Given the description of an element on the screen output the (x, y) to click on. 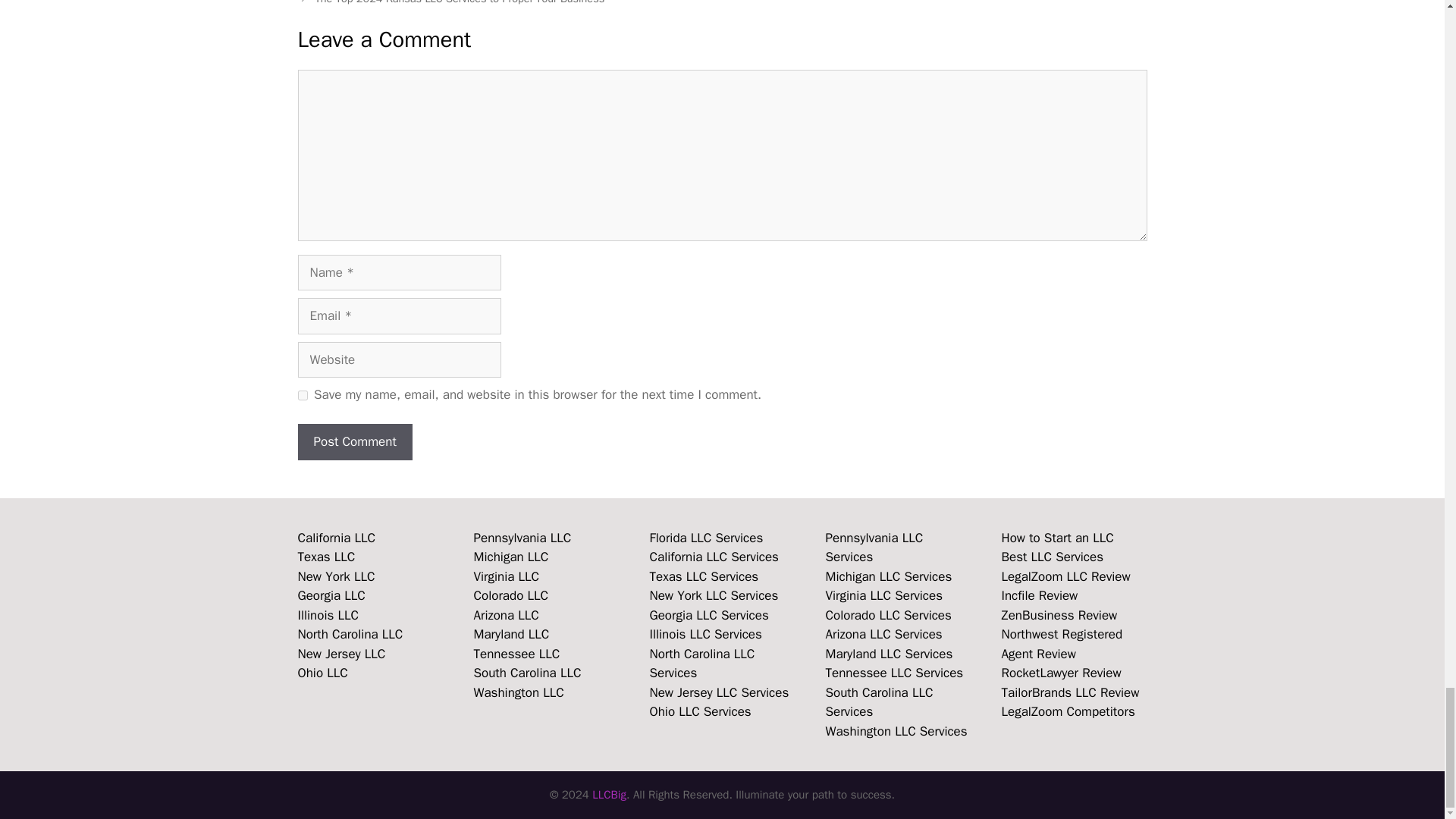
yes (302, 395)
Post Comment (354, 442)
